Given the description of an element on the screen output the (x, y) to click on. 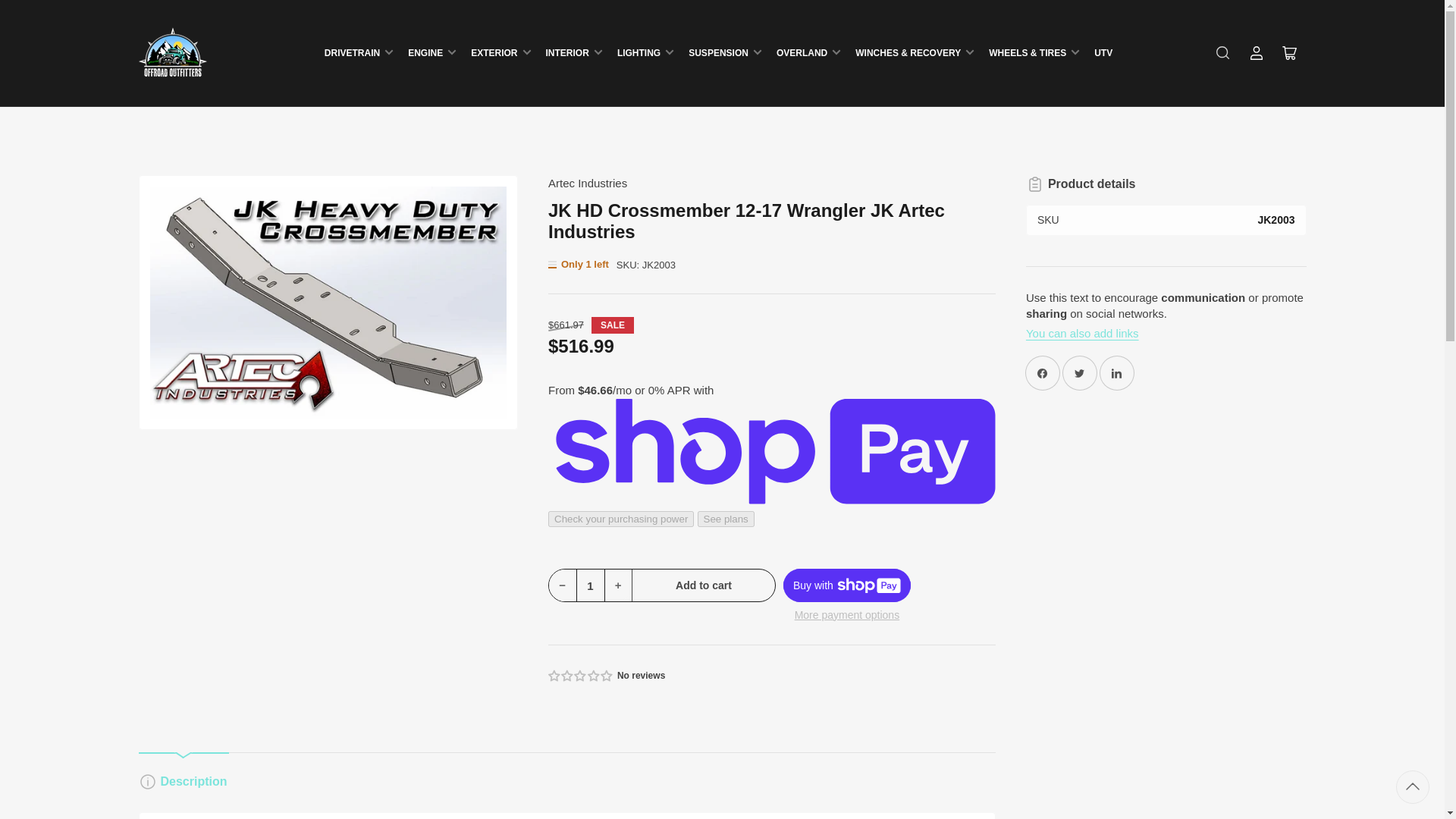
ENGINE (431, 52)
EXTERIOR (499, 52)
Artec Industries (587, 182)
DRIVETRAIN (358, 52)
1 (590, 585)
